Given the description of an element on the screen output the (x, y) to click on. 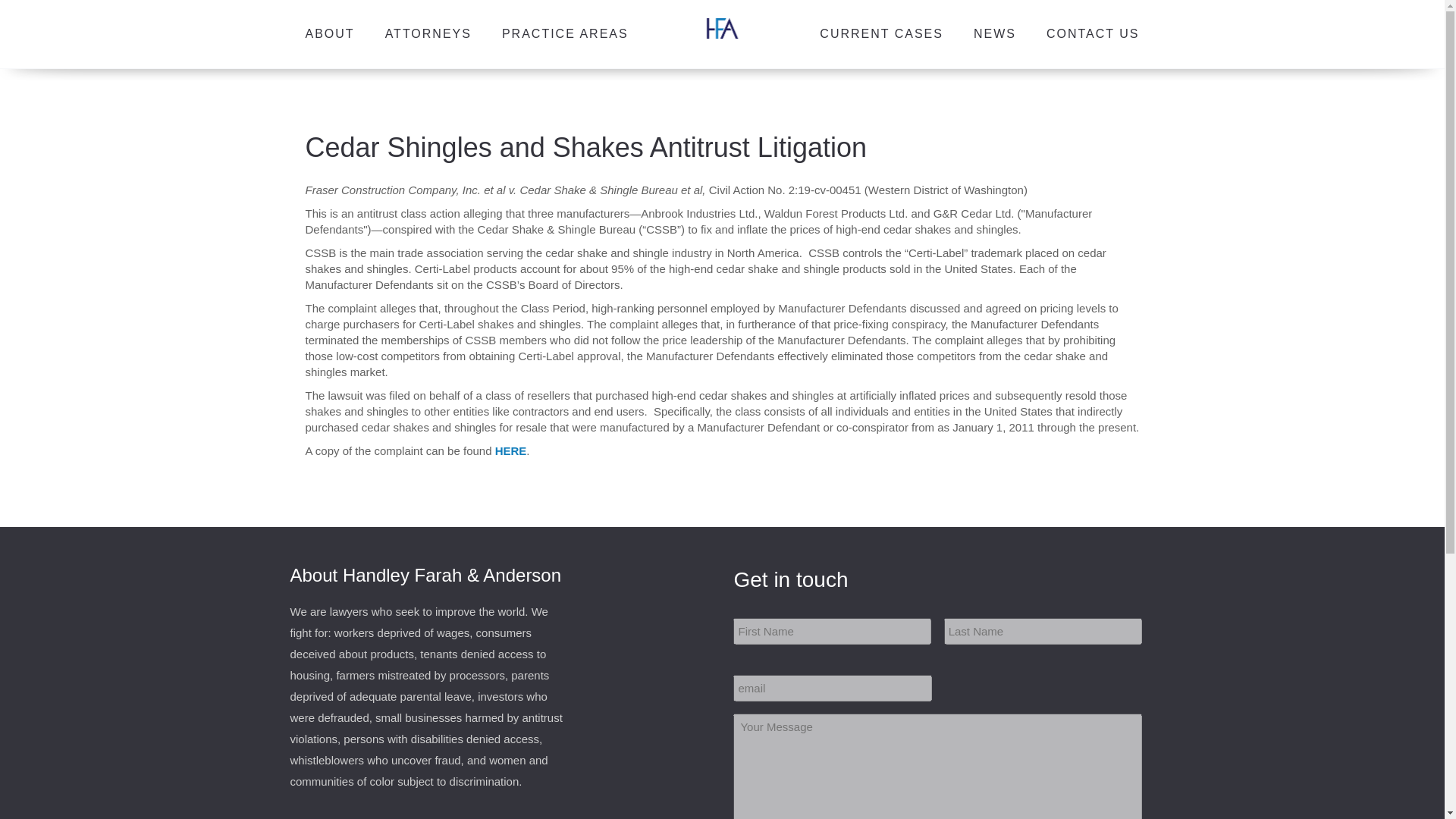
CURRENT CASES (881, 33)
CONTACT US (1093, 33)
HERE (511, 450)
ATTORNEYS (428, 33)
PRACTICE AREAS (565, 33)
NEWS (994, 33)
ABOUT (330, 33)
